Given the description of an element on the screen output the (x, y) to click on. 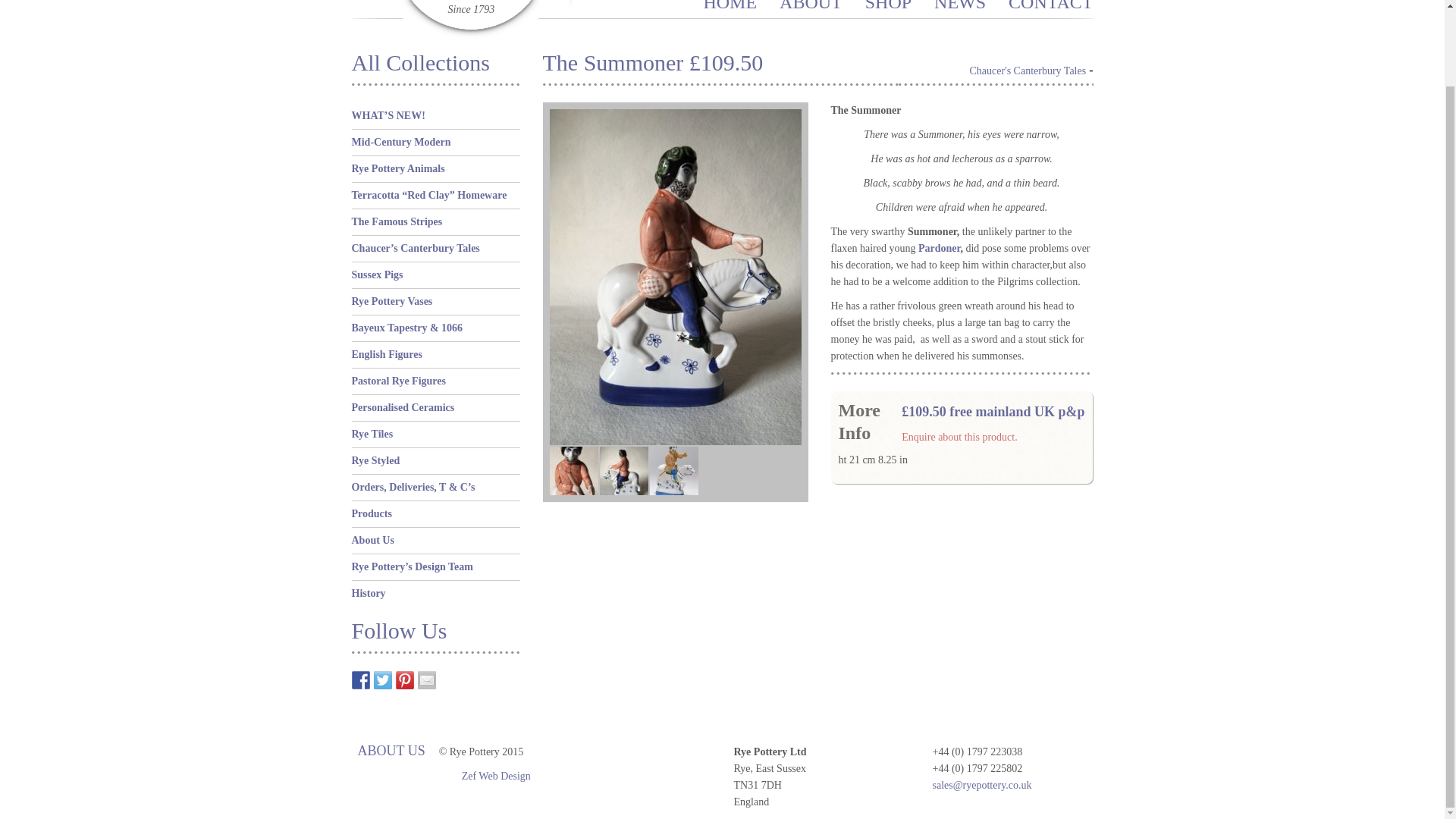
The Famous Stripes (397, 221)
Pin it with Pinterest (404, 679)
Pastoral Rye Figures (398, 380)
NEWS (959, 6)
SHOP (887, 6)
ABOUT (810, 6)
Mid-Century Modern (401, 142)
English Figures (387, 354)
Share by email (425, 679)
Rye Tiles (372, 433)
Personalised Ceramics (403, 407)
Share on Twitter (381, 679)
Sussex Pigs (377, 274)
Chaucer's Canterbury Tales (1027, 70)
History (368, 593)
